Given the description of an element on the screen output the (x, y) to click on. 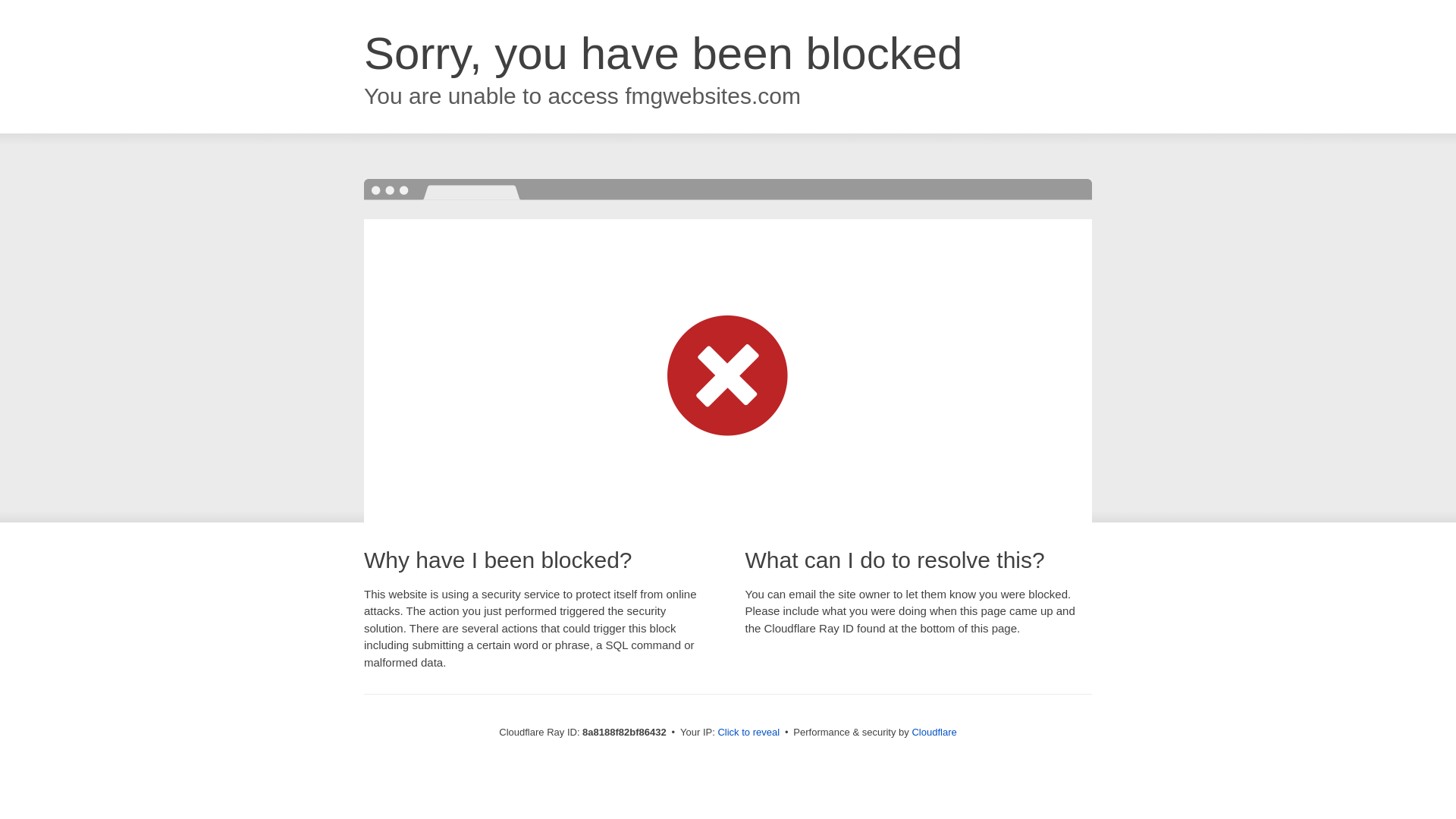
Click to reveal (747, 732)
Cloudflare (933, 731)
